Given the description of an element on the screen output the (x, y) to click on. 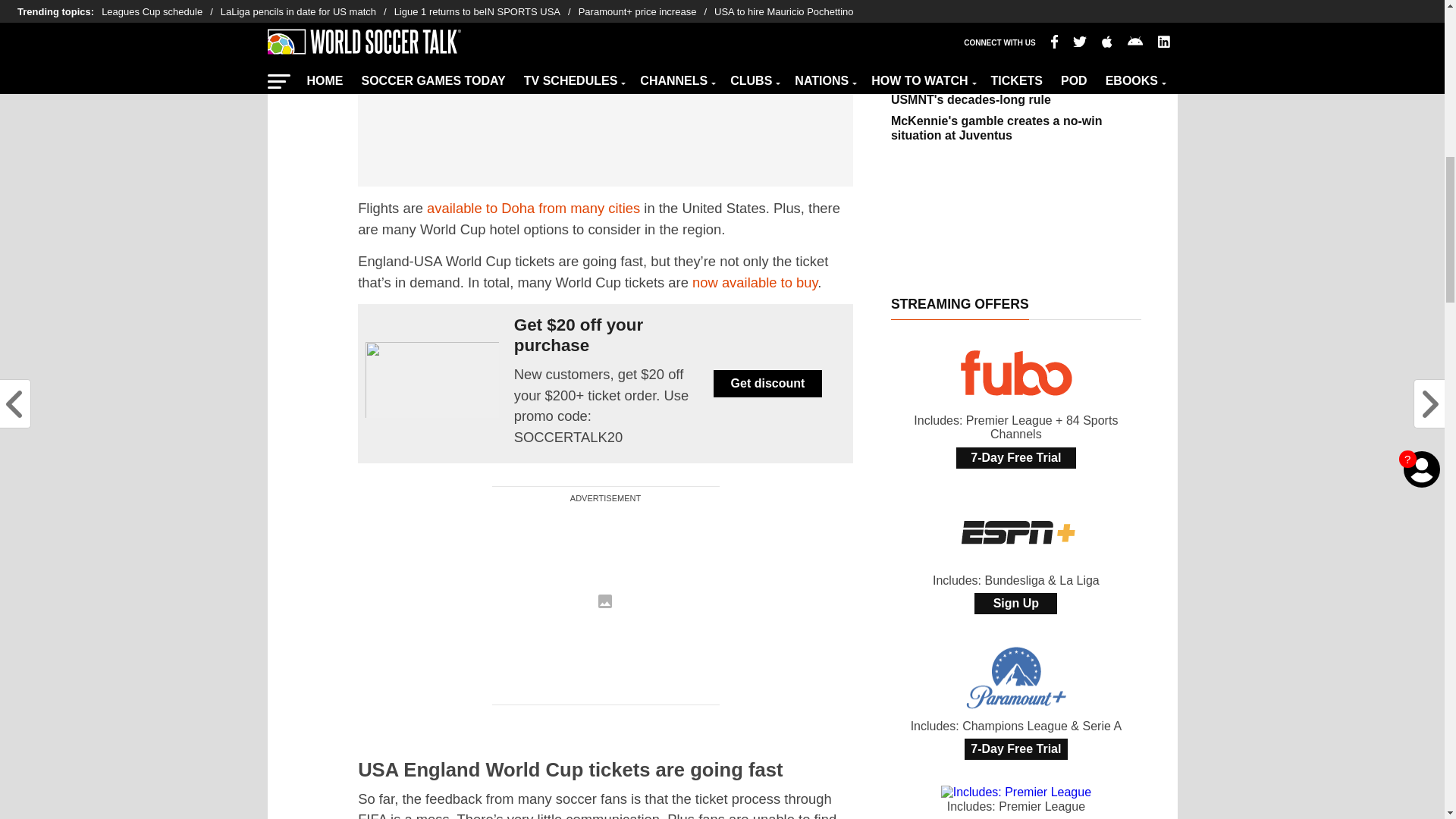
now available to buy (754, 282)
Get discount (767, 383)
available to Doha from many cities (533, 207)
